Given the description of an element on the screen output the (x, y) to click on. 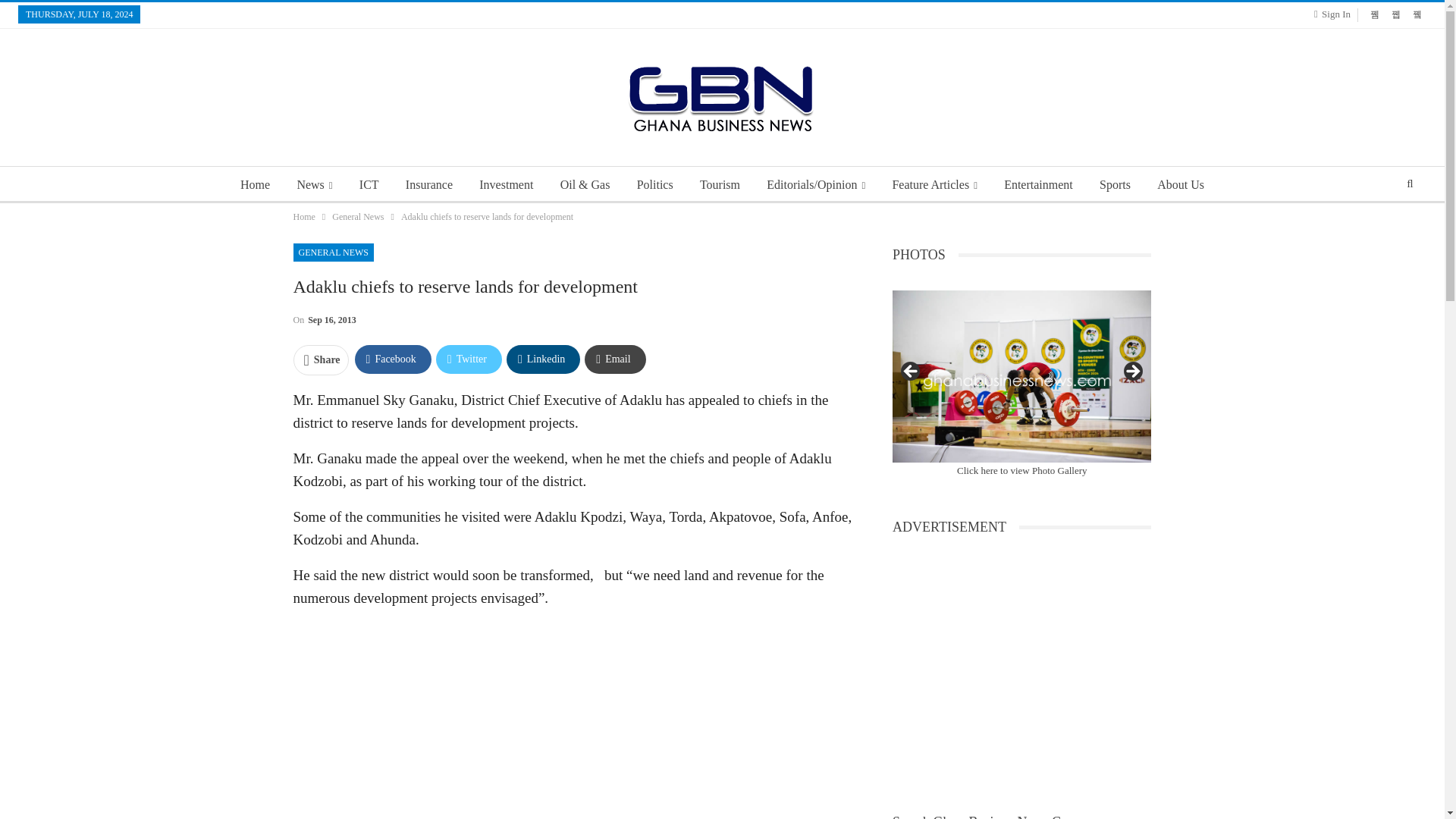
News (313, 185)
Tourism (719, 185)
Sign In (1335, 13)
Twitter (468, 358)
Entertainment (1037, 185)
ICT (369, 185)
Investment (505, 185)
Email (615, 358)
Linkedin (542, 358)
Feature Articles (934, 185)
Advertisement (574, 720)
Insurance (428, 185)
Politics (654, 185)
General News (357, 216)
About Us (1180, 185)
